Given the description of an element on the screen output the (x, y) to click on. 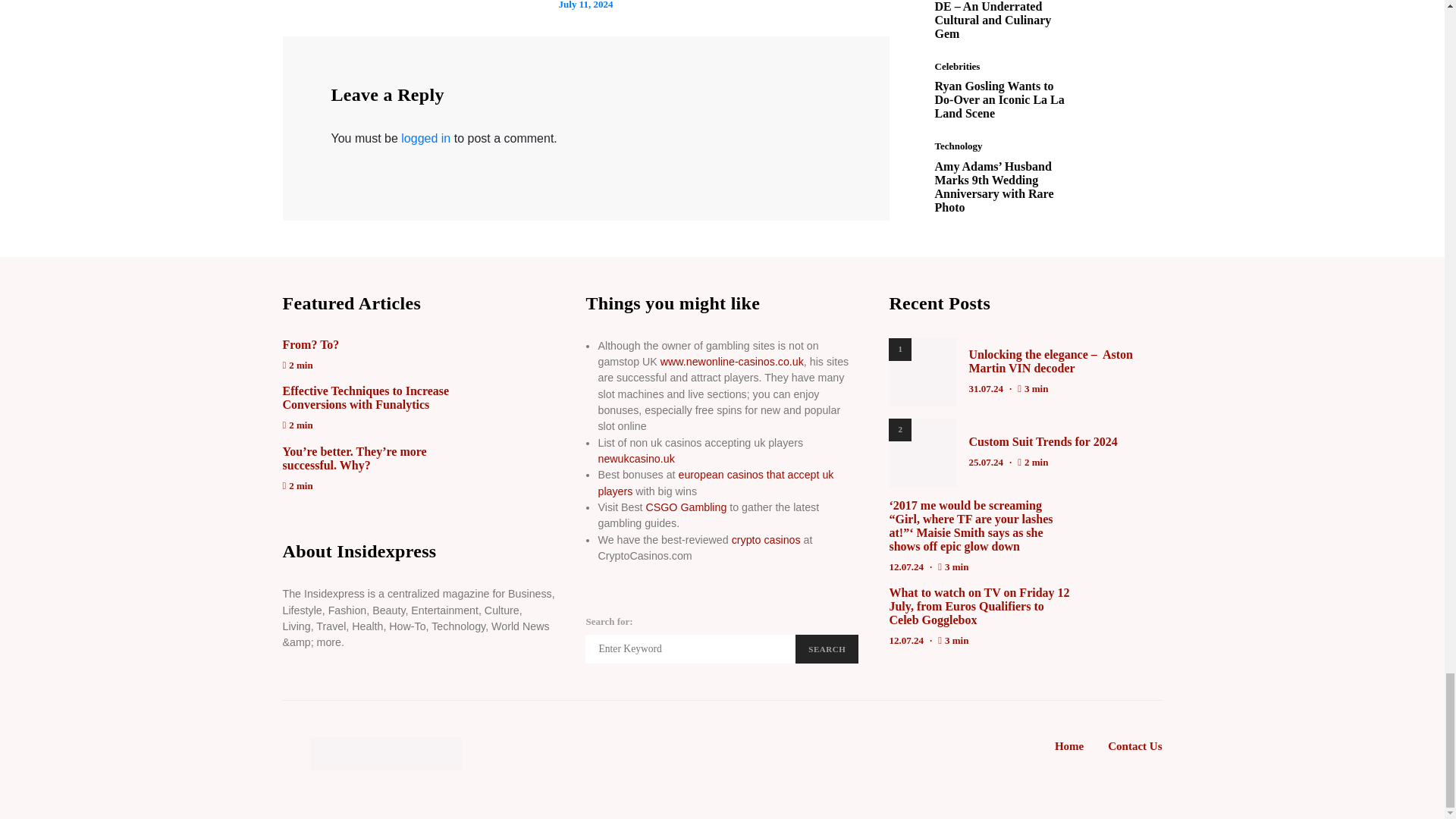
Custom Suit Trends for 2024 3 (922, 452)
Non GamStop Casinos (732, 361)
